Given the description of an element on the screen output the (x, y) to click on. 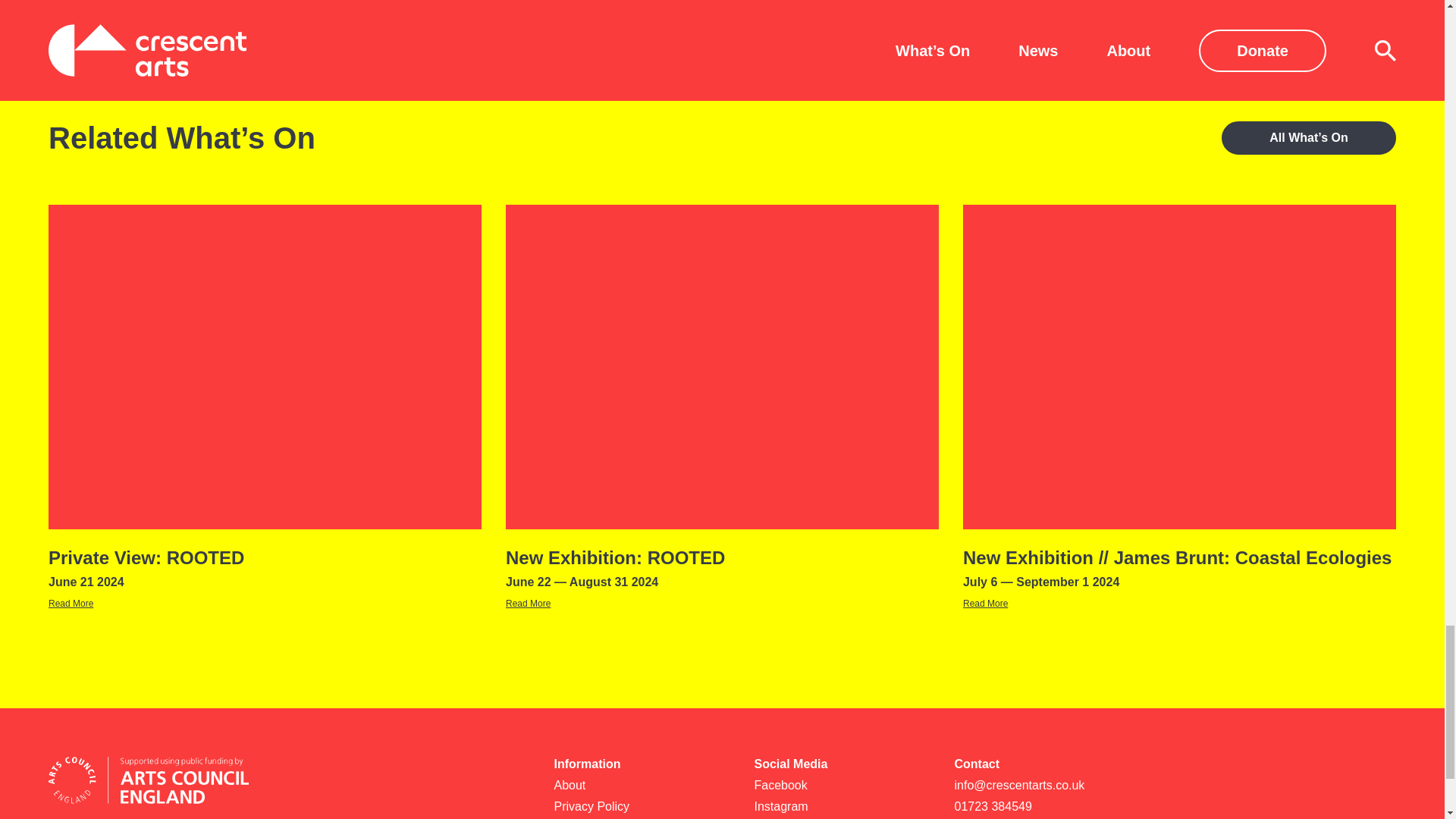
Privacy Policy (264, 568)
01723 384549 (641, 806)
Read More (1041, 806)
Instagram (70, 603)
About (842, 806)
Read More (641, 785)
Read More (527, 603)
Facebook (984, 603)
